Given the description of an element on the screen output the (x, y) to click on. 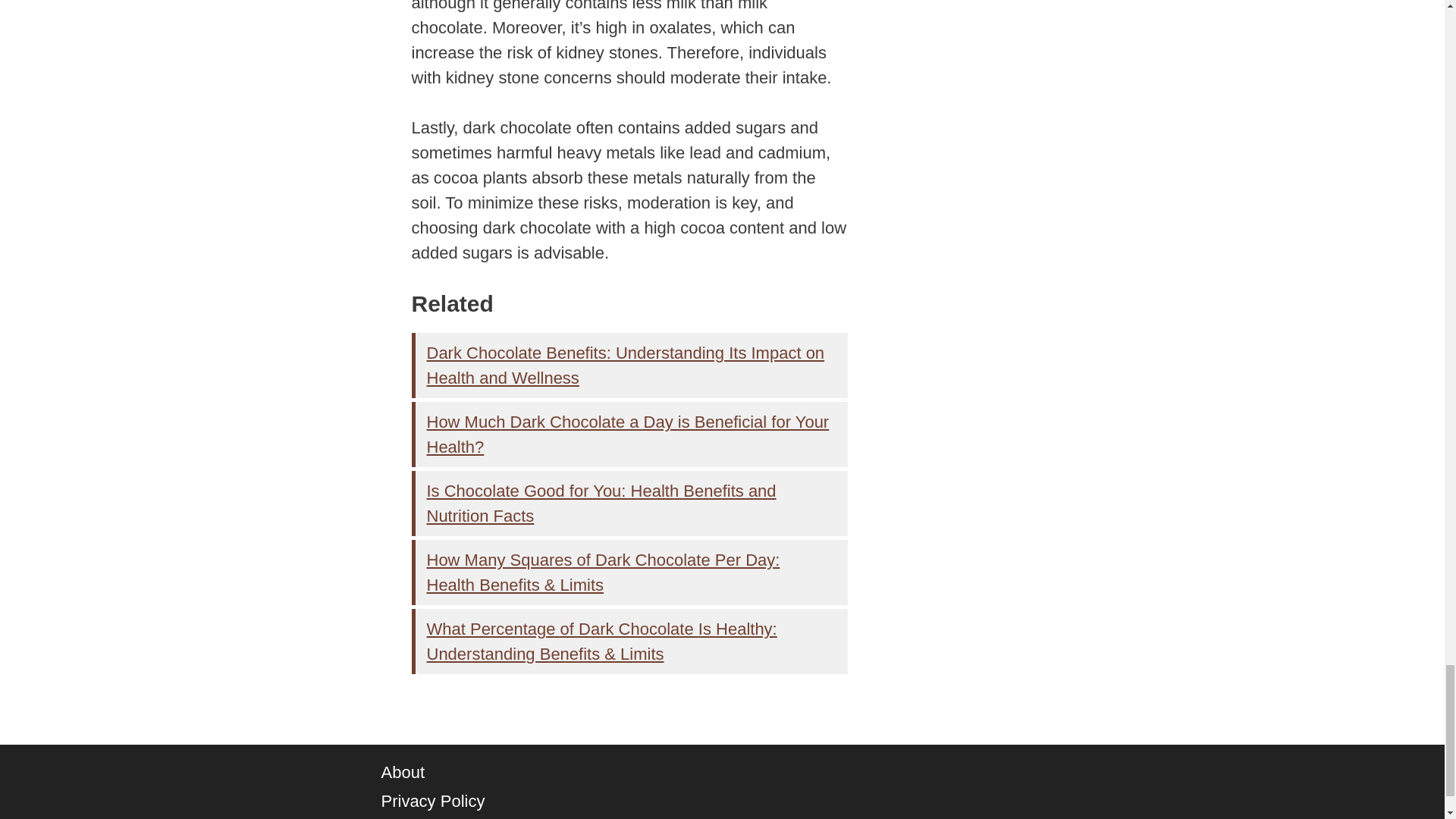
How Much Dark Chocolate a Day is Beneficial for Your Health? (627, 434)
About (402, 772)
Privacy Policy (432, 800)
How Much Dark Chocolate a Day is Beneficial for Your Health? (627, 434)
